Given the description of an element on the screen output the (x, y) to click on. 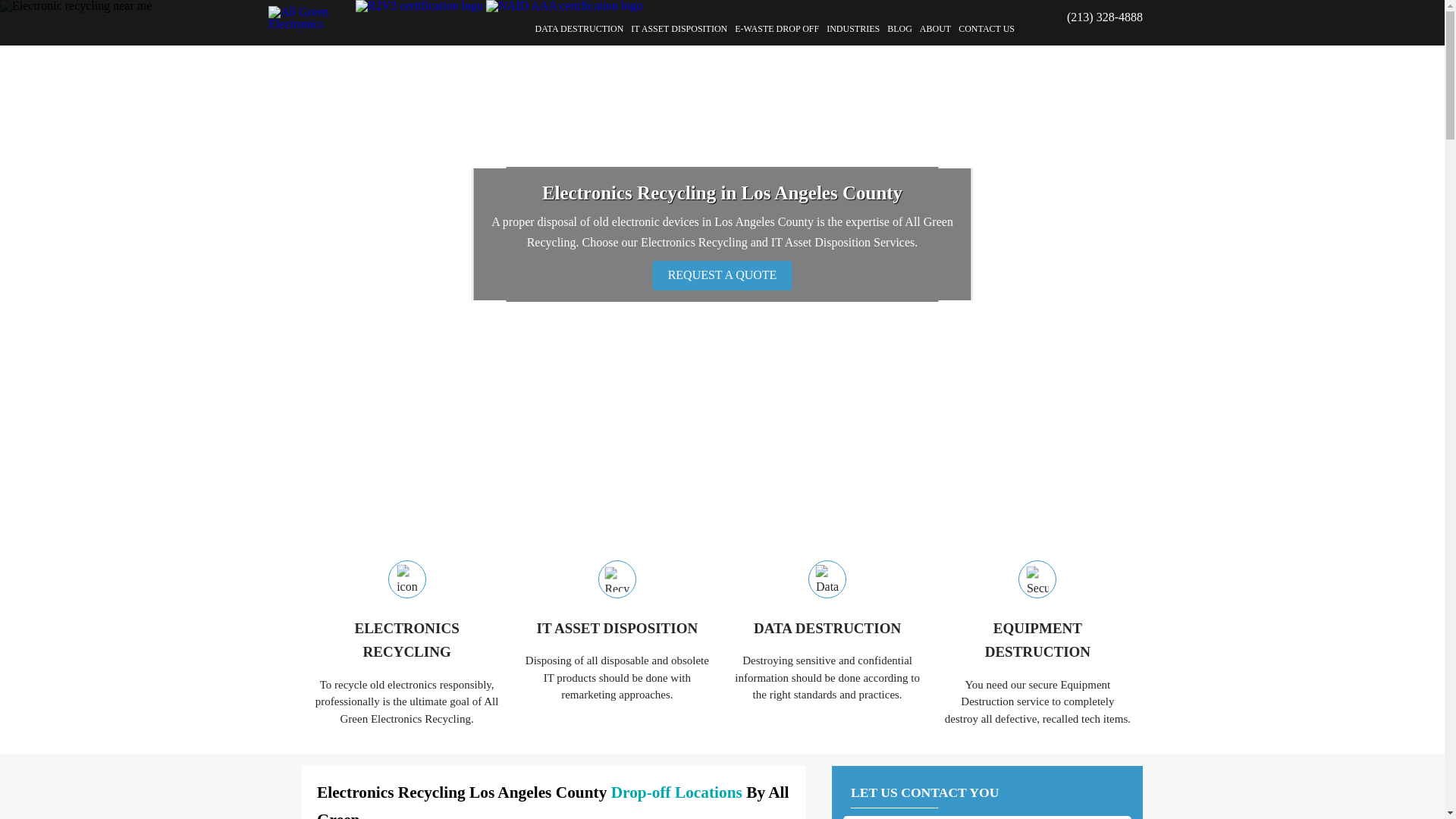
BLOG (899, 28)
EQUIPMENT DESTRUCTION (1037, 640)
INDUSTRIES (852, 28)
CONTACT US (986, 28)
Drop-off Locations (676, 791)
IT ASSET DISPOSITION (616, 628)
E-WASTE DROP OFF (776, 28)
ELECTRONICS RECYCLING (406, 640)
ABOUT (935, 28)
IT ASSET DISPOSITION (678, 28)
